Given the description of an element on the screen output the (x, y) to click on. 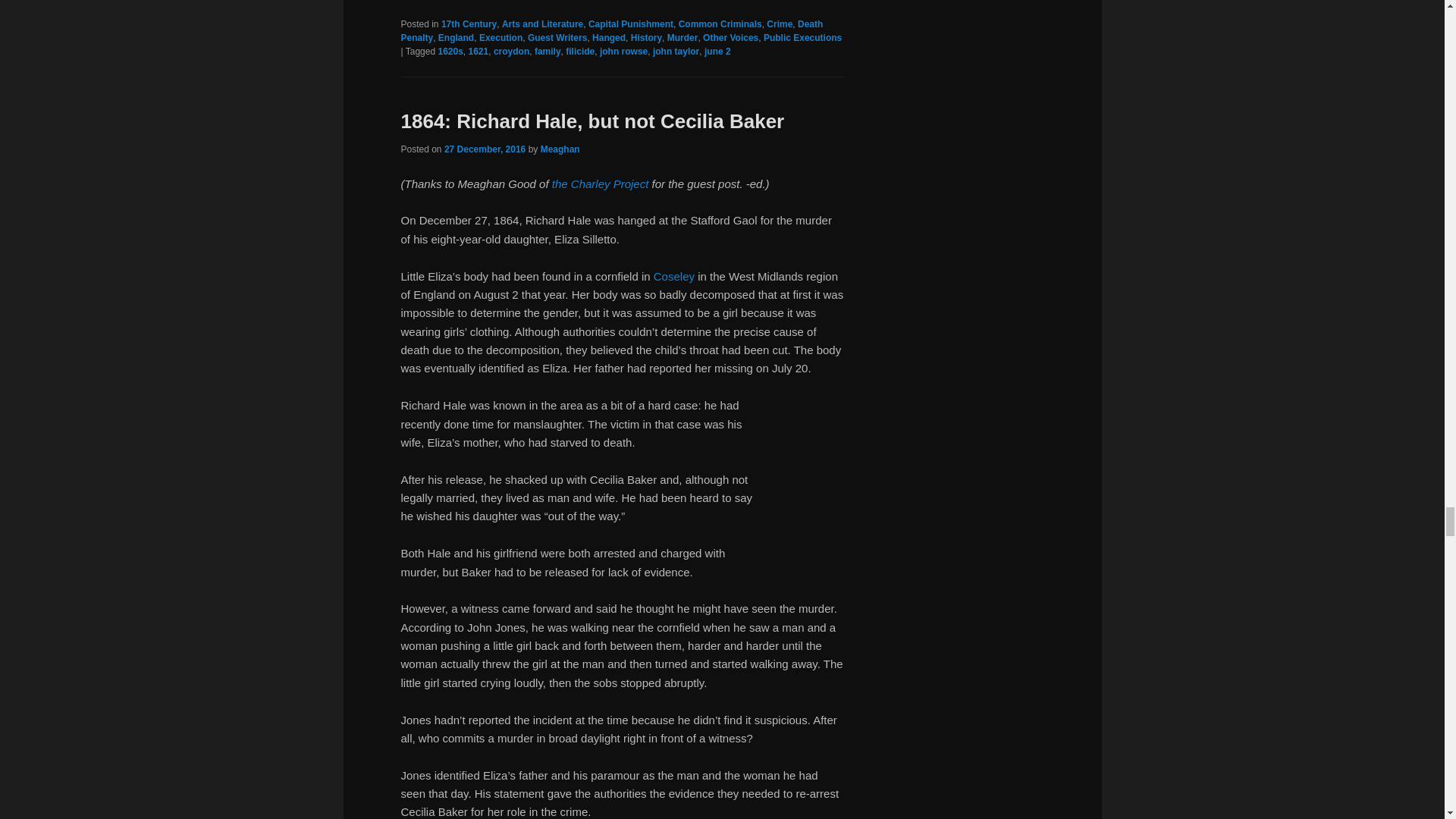
4:12 am (484, 149)
View all posts by Meaghan (559, 149)
